Given the description of an element on the screen output the (x, y) to click on. 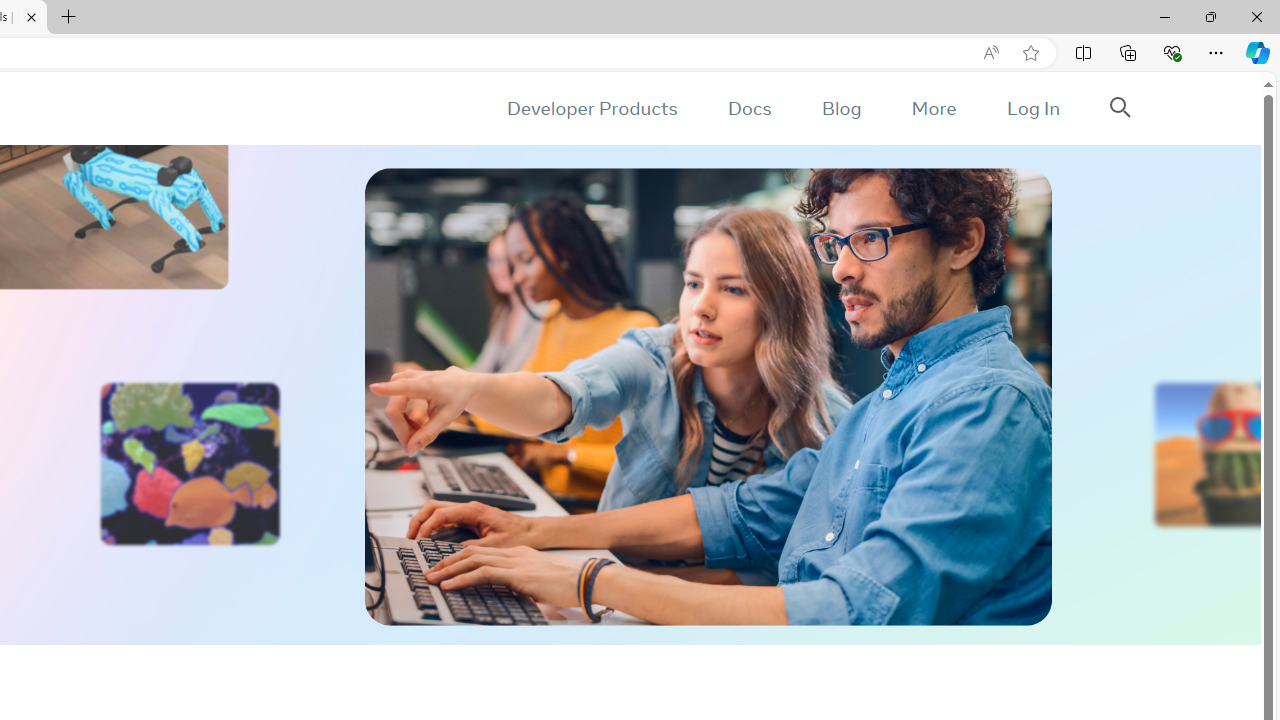
Blog (841, 108)
Blog (841, 108)
